Given the description of an element on the screen output the (x, y) to click on. 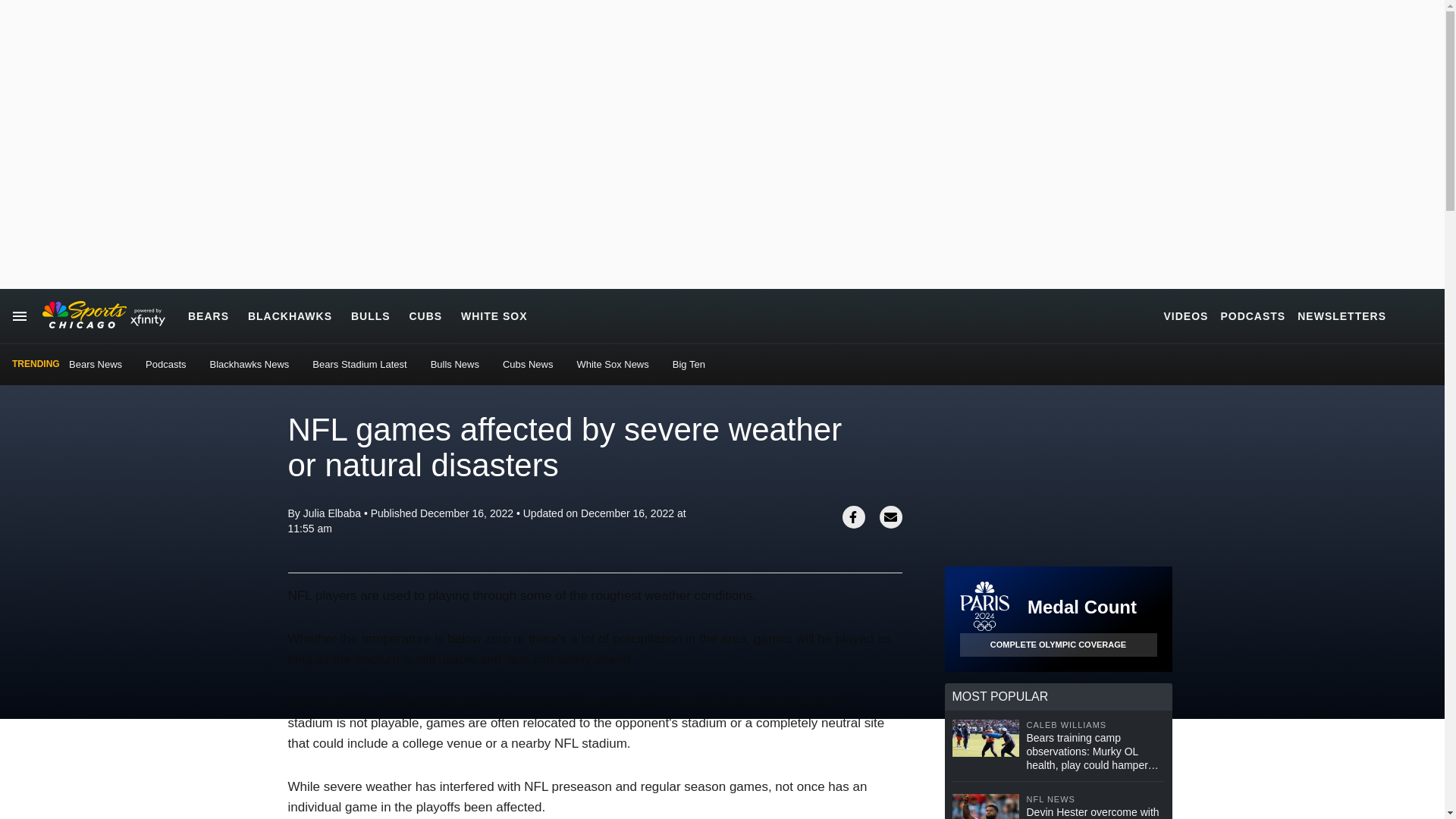
Blackhawks News (249, 364)
PODCASTS (1252, 315)
BLACKHAWKS (289, 315)
Bears Stadium Latest (359, 364)
Podcasts (165, 364)
CUBS (425, 315)
Bulls News (454, 364)
White Sox News (611, 364)
WHITE SOX (494, 315)
NEWSLETTERS (1341, 315)
VIDEOS (1185, 315)
BULLS (370, 315)
Cubs News (527, 364)
BEARS (207, 315)
Bears News (95, 364)
